Given the description of an element on the screen output the (x, y) to click on. 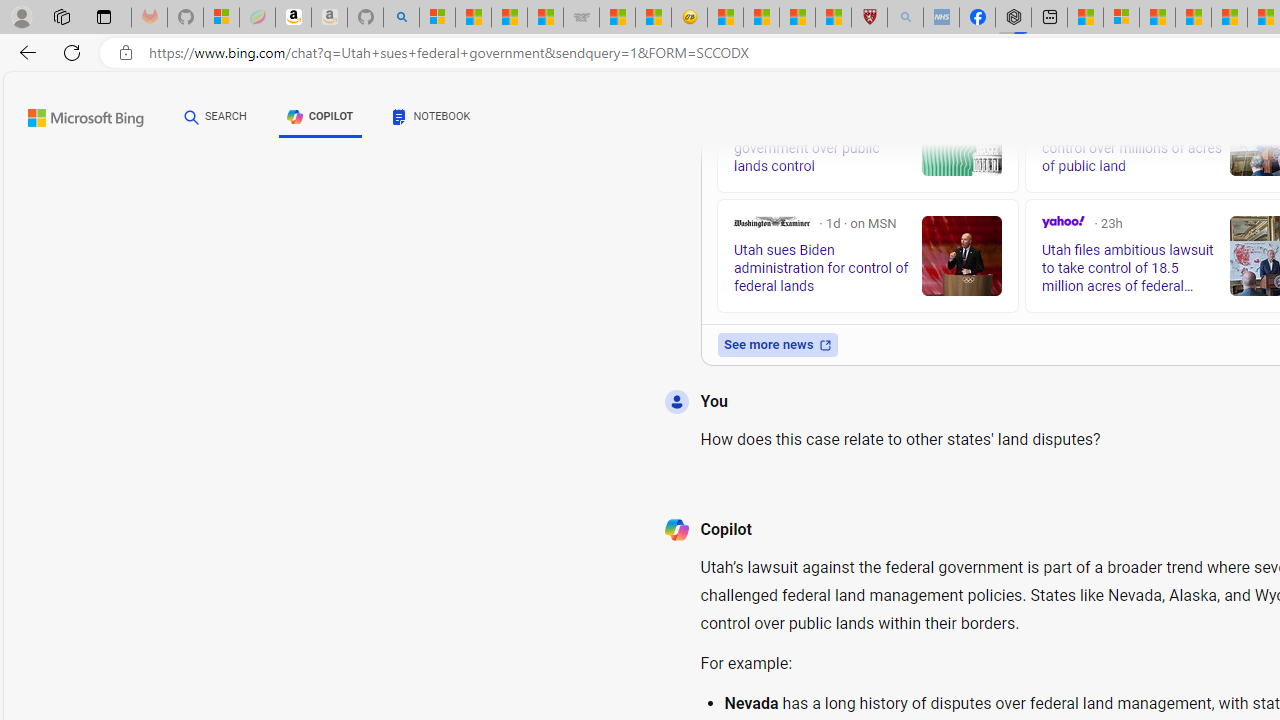
NOTEBOOK (431, 120)
Utah sues Biden administration for control of federal lands (961, 255)
Boise State Public Radio (1049, 103)
Back to Bing search (73, 113)
NOTEBOOK (431, 116)
